Given the description of an element on the screen output the (x, y) to click on. 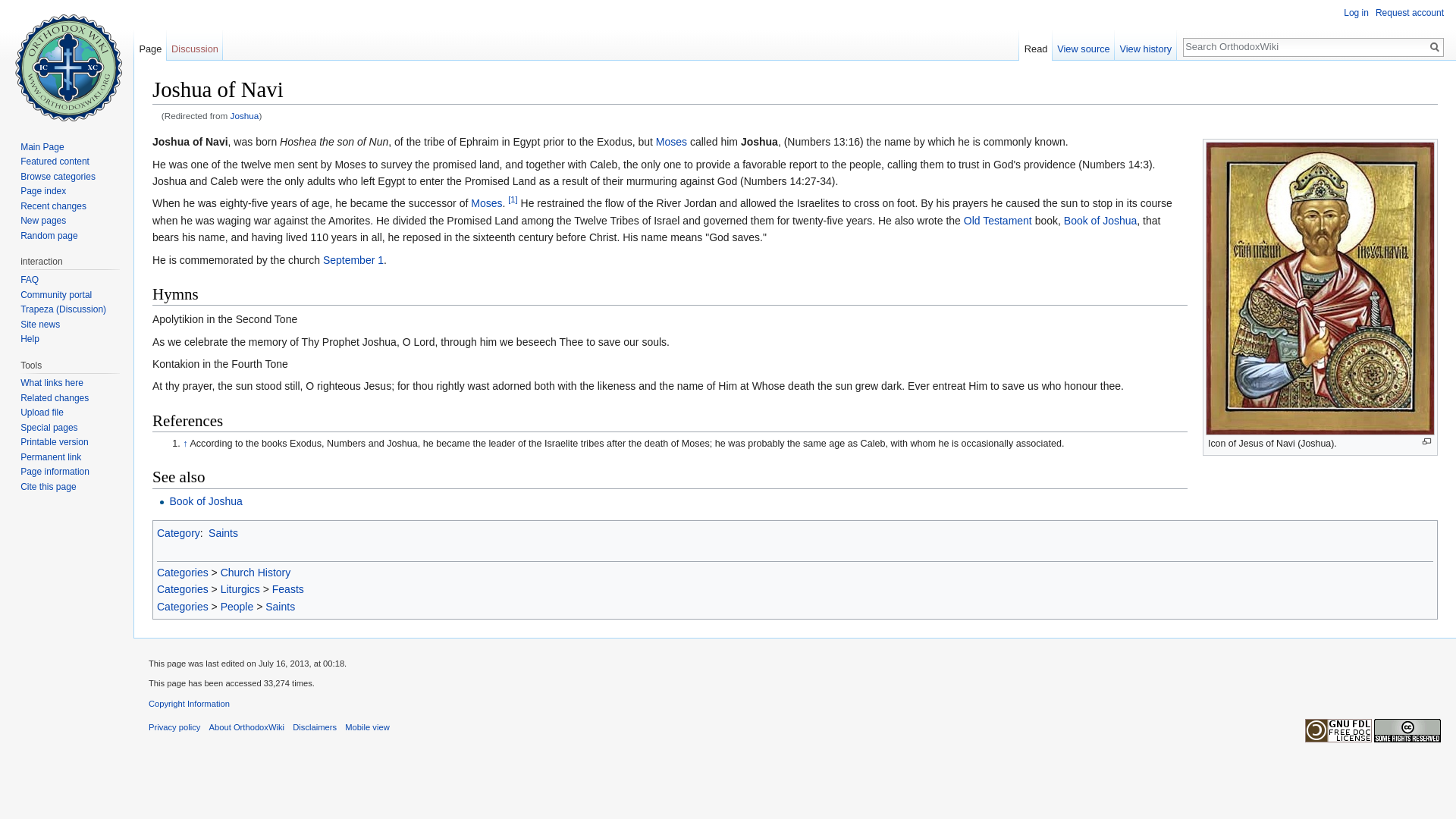
Liturgics (240, 589)
Featured content (54, 161)
Book of Joshua (205, 500)
Feasts (288, 589)
Category:Feasts (288, 589)
Book of Joshua (1100, 220)
Category:Categories (182, 572)
Browse categories (58, 176)
Category (178, 532)
View history (1145, 45)
Category:Church History (256, 572)
New pages (42, 220)
Page index (42, 190)
Moses (486, 203)
Category:Liturgics (240, 589)
